Given the description of an element on the screen output the (x, y) to click on. 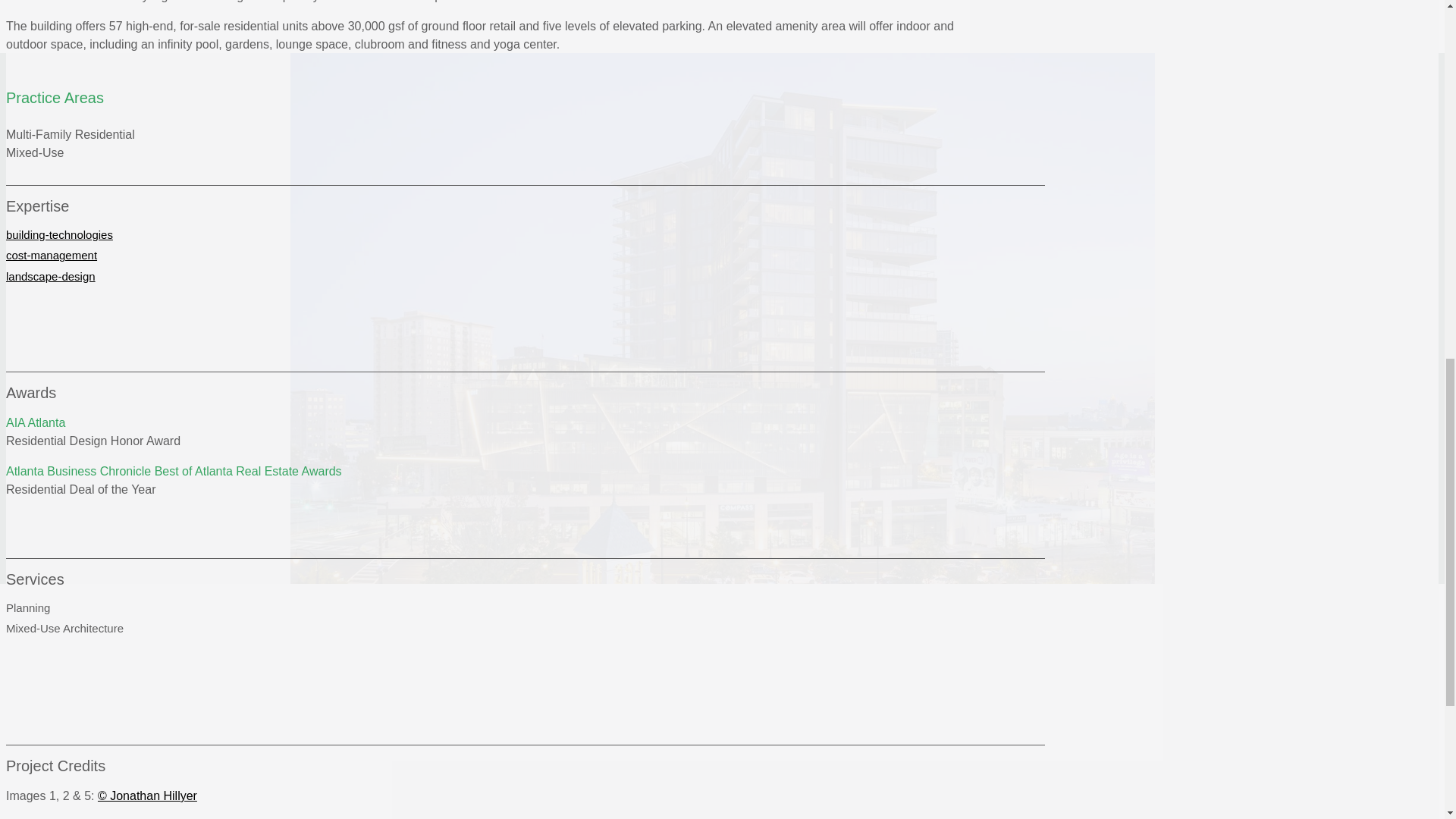
cost-management (51, 254)
building-technologies (59, 234)
